Given the description of an element on the screen output the (x, y) to click on. 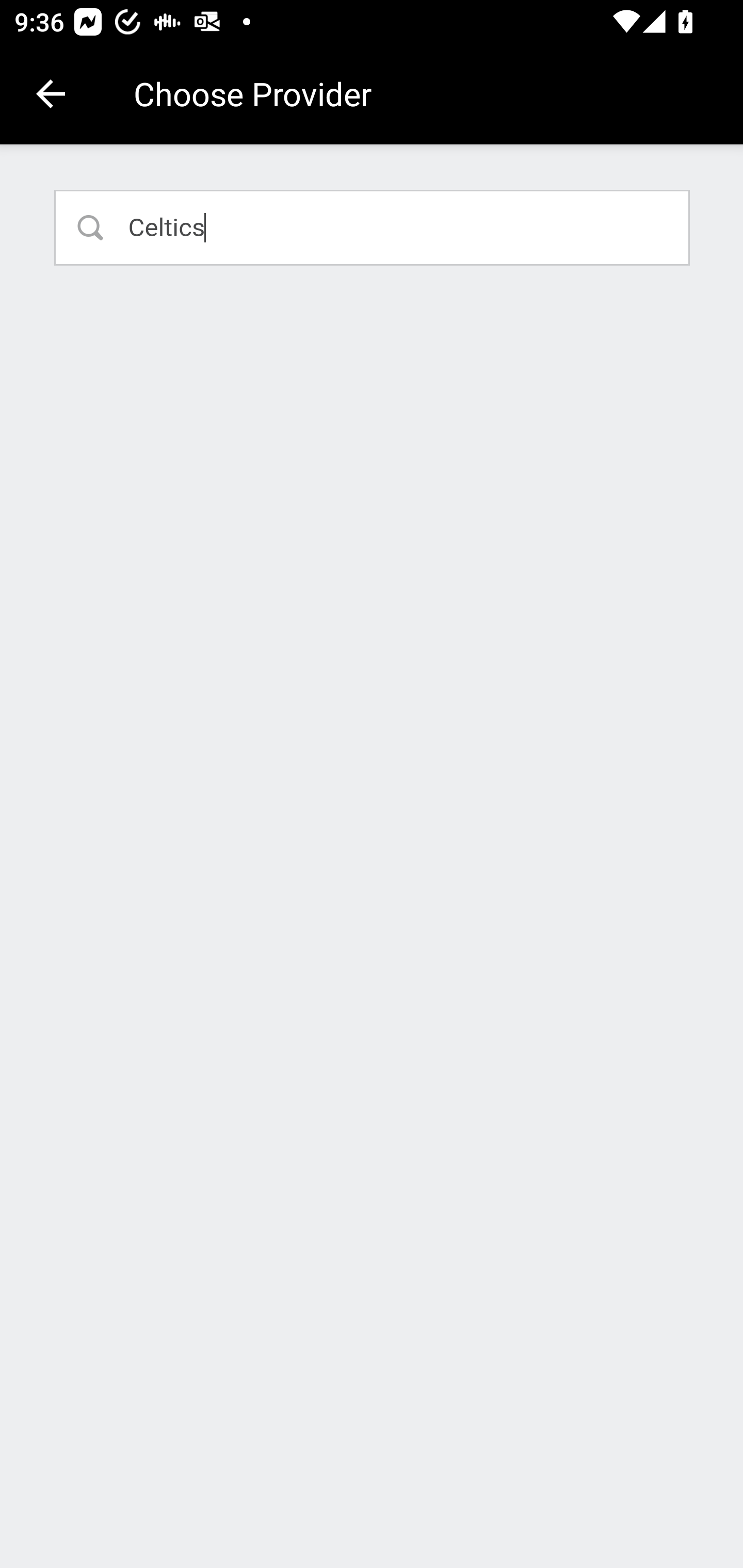
Navigate up (50, 93)
Celtics (372, 227)
